Given the description of an element on the screen output the (x, y) to click on. 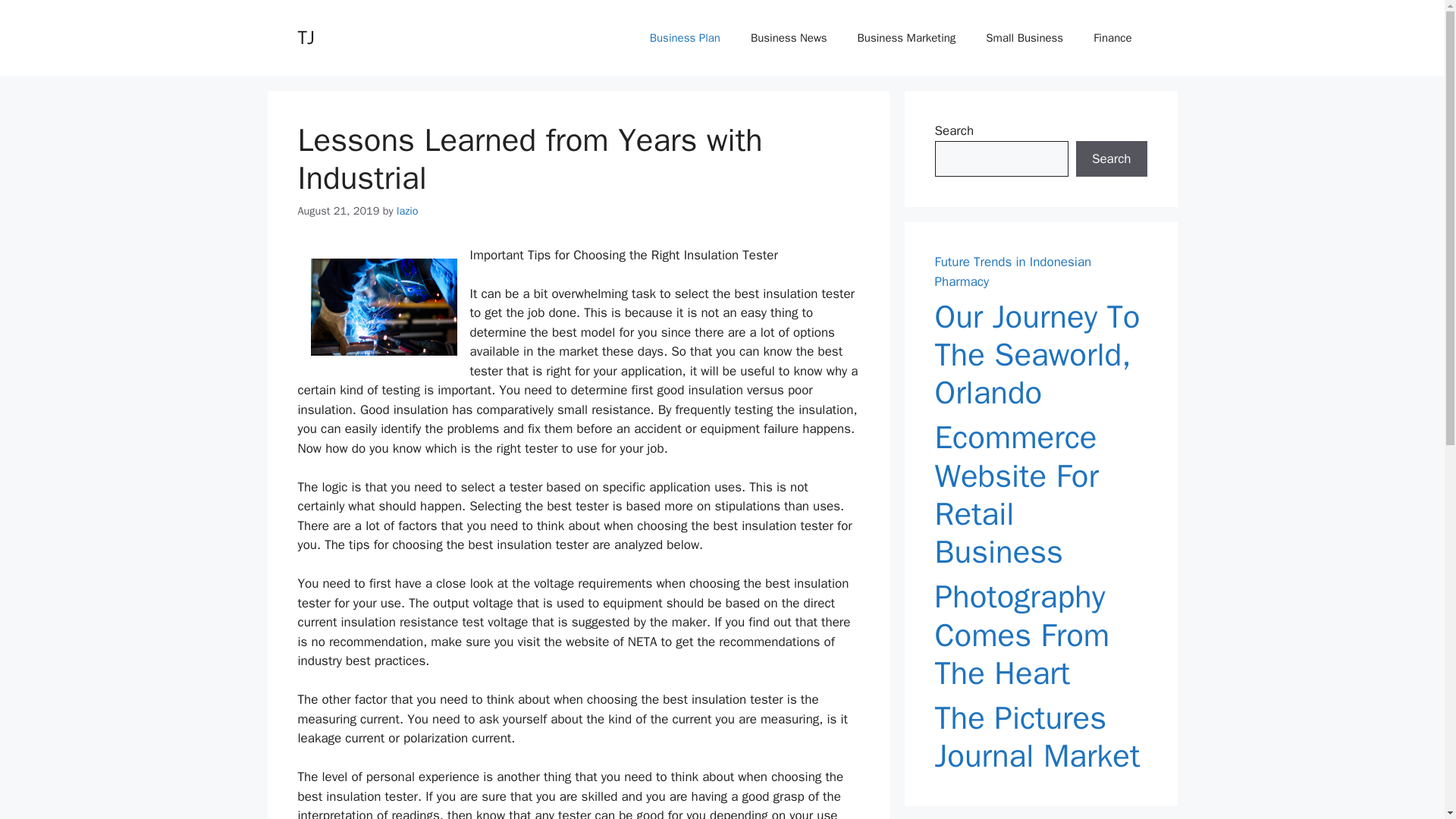
The Pictures Journal Market (1040, 737)
Business News (789, 37)
lazio (407, 210)
Small Business (1024, 37)
Ecommerce Website For Retail Business (1040, 494)
Search (1111, 158)
Photography Comes From The Heart (1040, 635)
View all posts by lazio (407, 210)
Finance (1112, 37)
Business Plan (684, 37)
